Given the description of an element on the screen output the (x, y) to click on. 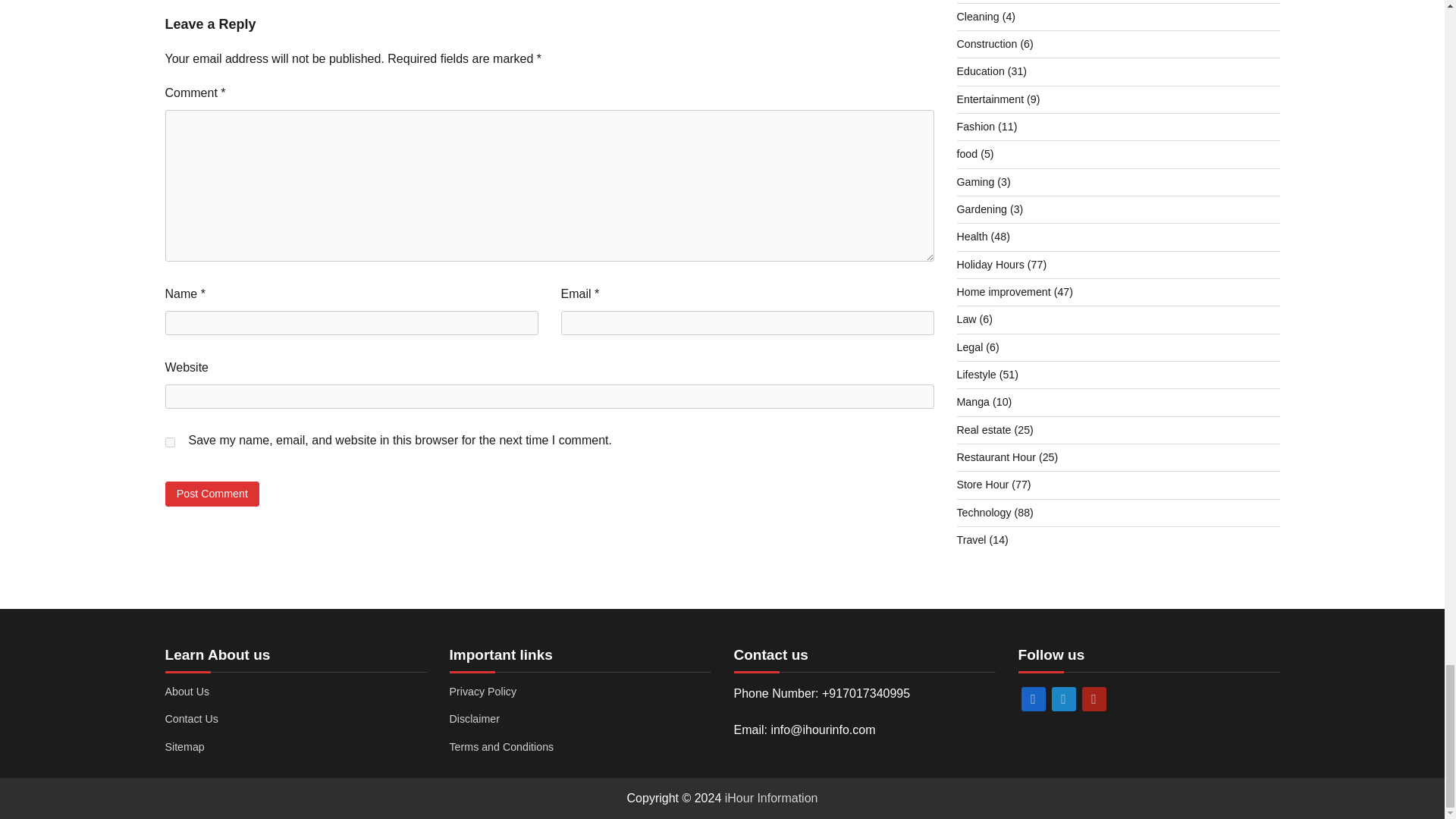
yes (169, 442)
Post Comment (212, 493)
